Given the description of an element on the screen output the (x, y) to click on. 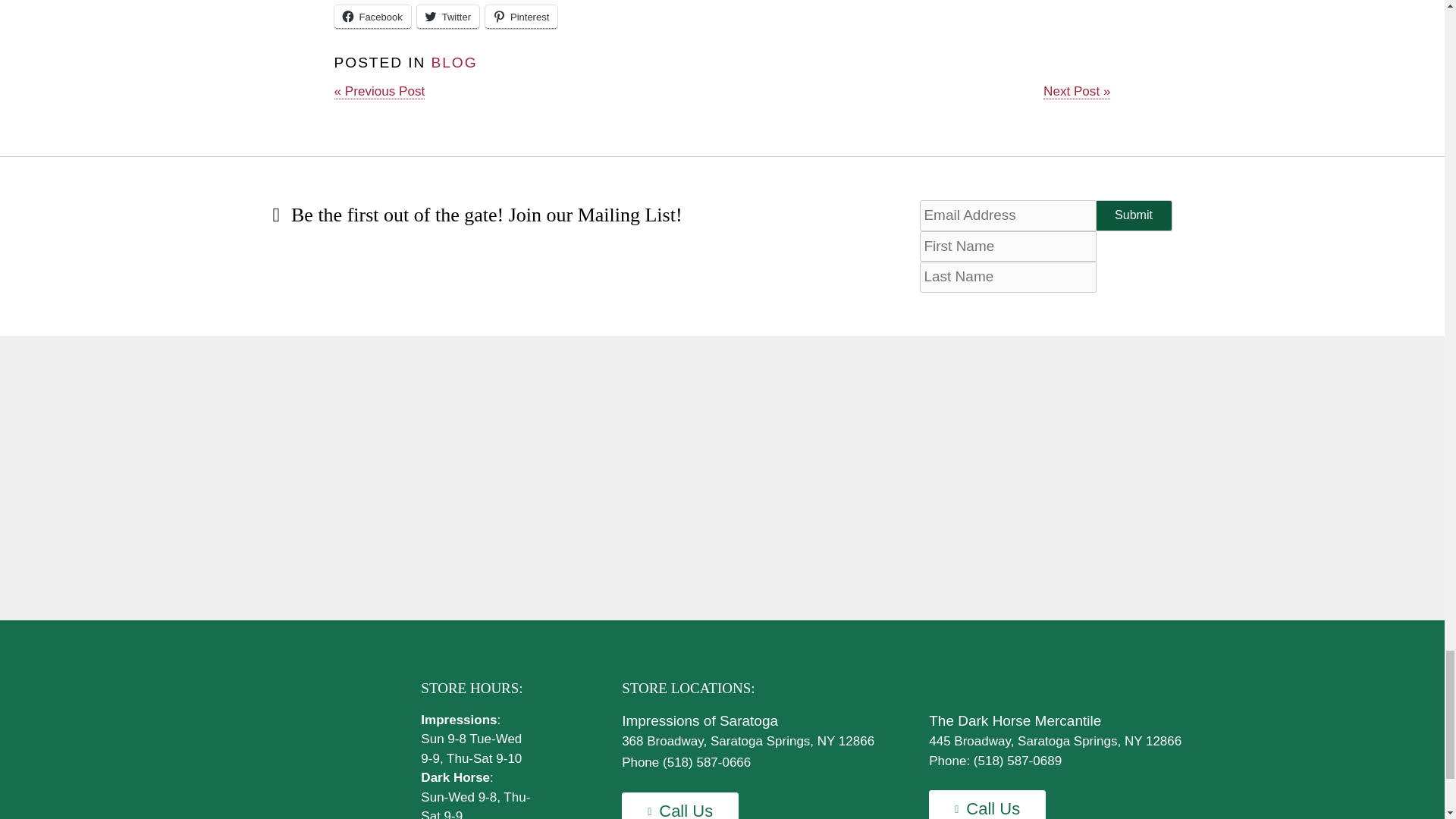
Twitter (447, 16)
Facebook (372, 16)
Submit (1134, 214)
